Given the description of an element on the screen output the (x, y) to click on. 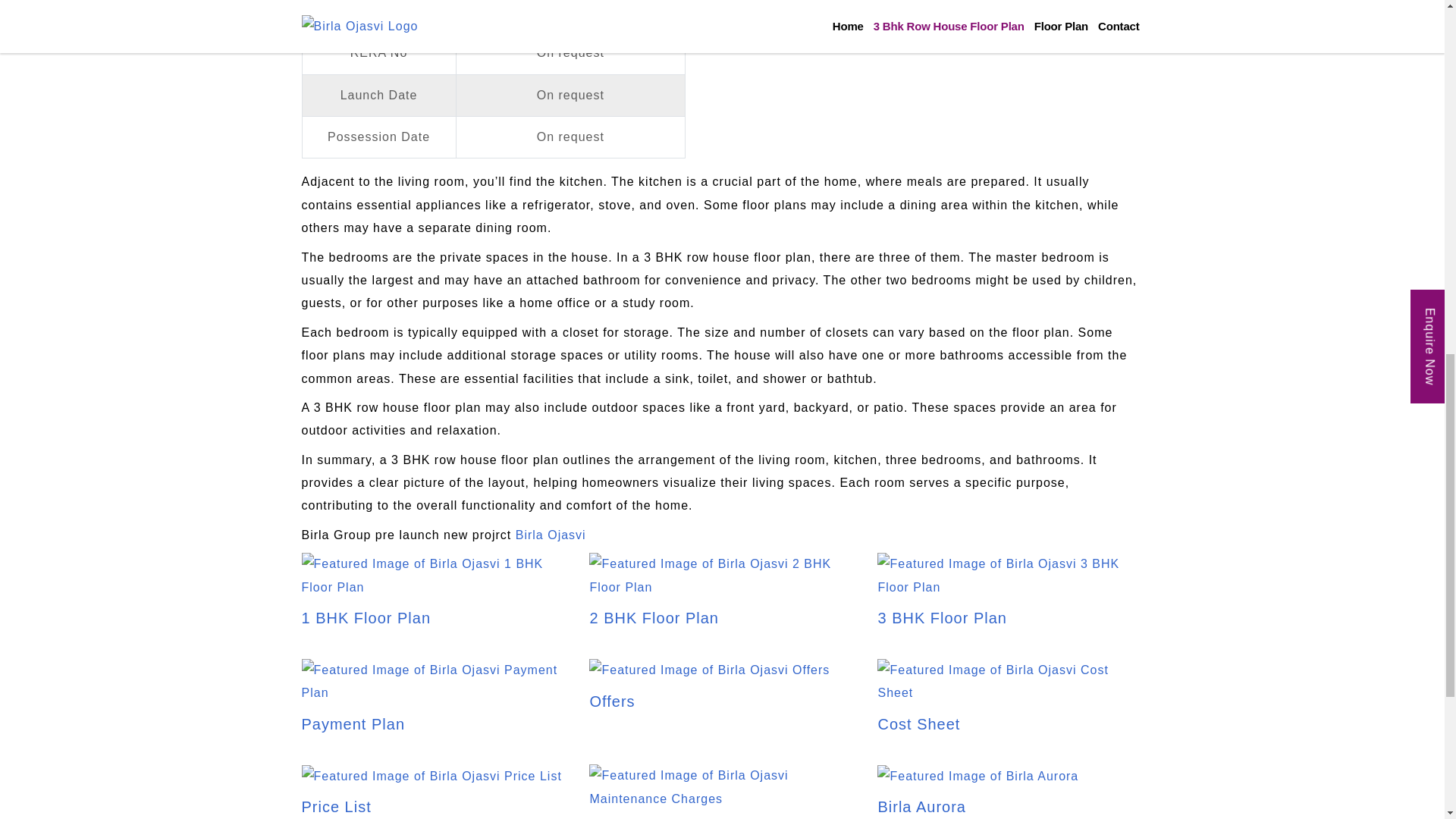
Birla Ojasvi Cost Sheet (1009, 682)
Birla Ojasvi Payment Plan (434, 702)
Birla Ojasvi (550, 534)
Birla Ojasvi 1 BHK Floor Plan (434, 575)
Price List (431, 791)
3 BHK Floor Plan (1009, 596)
Birla Ojasvi Cost Sheet (1009, 702)
Cost Sheet (1009, 702)
Payment Plan (434, 702)
Birla Ojasvi 3 BHK Floor Plan (1009, 575)
Offers (709, 686)
Birla Ojasvi 3 BHK Floor Plan (1009, 596)
Birla Ojasvi Price List (431, 775)
Maintenance Charges (721, 799)
Birla Ojasvi (550, 534)
